Given the description of an element on the screen output the (x, y) to click on. 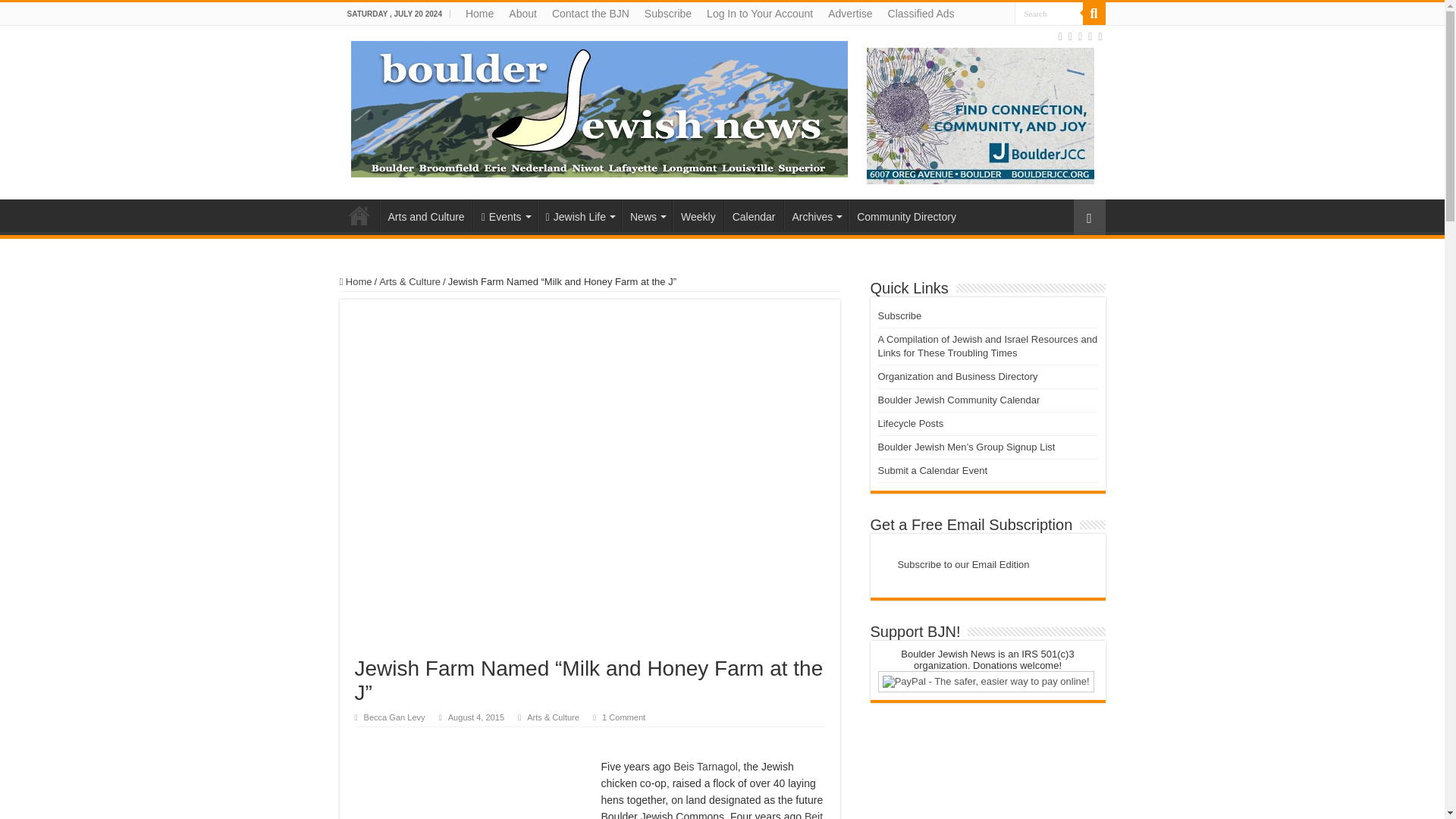
Search (1048, 13)
Rss (1060, 36)
Twitter (1080, 36)
Facebook (1070, 36)
Log In to Your Account (759, 13)
Search (1094, 13)
Pinterest (1089, 36)
Subscribe (667, 13)
Search (1048, 13)
Contact the BJN (590, 13)
Jewish Life (579, 214)
Home (358, 214)
Advertise (850, 13)
Home (479, 13)
